Given the description of an element on the screen output the (x, y) to click on. 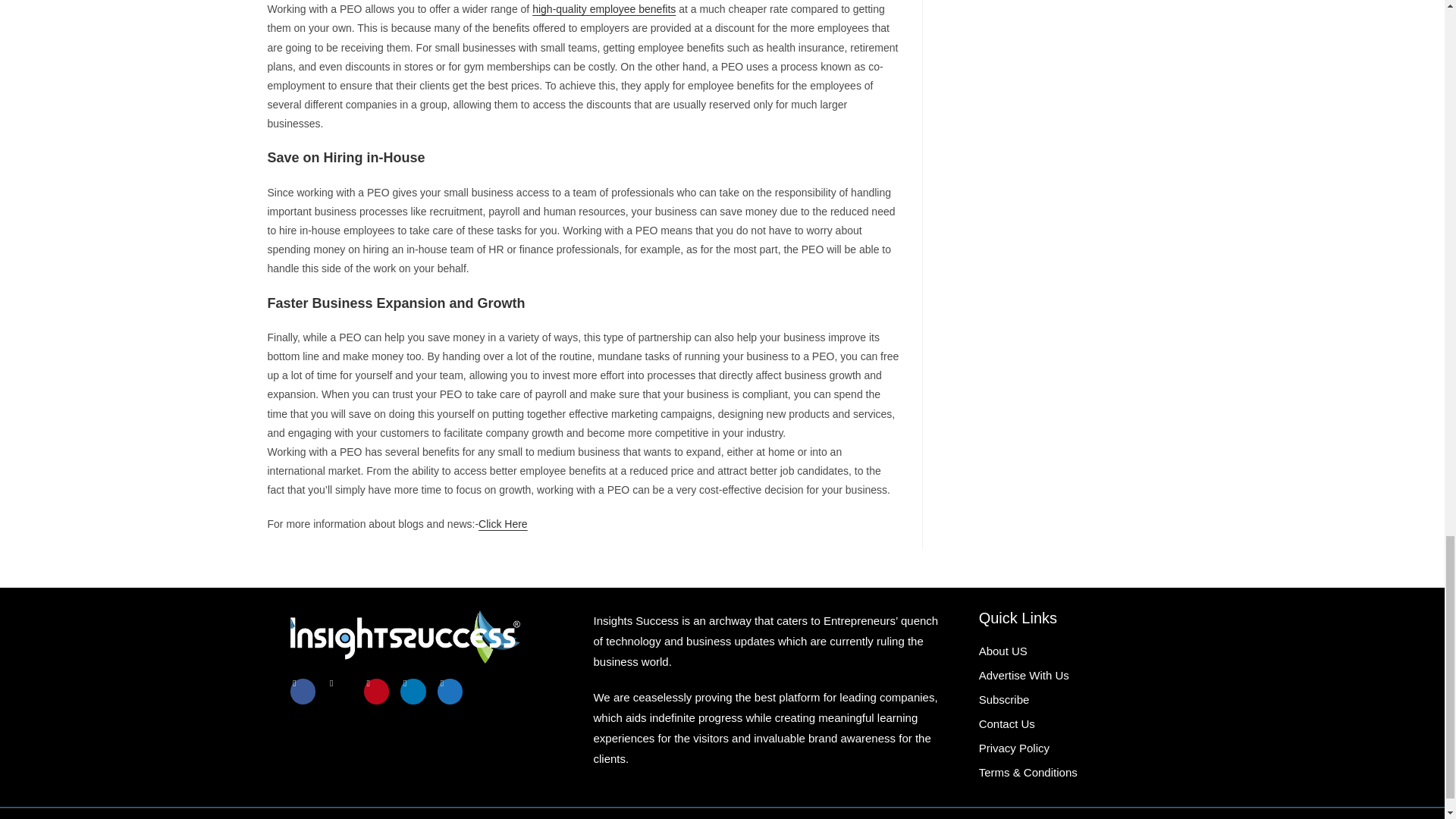
Click Here (503, 523)
high-quality employee benefits (603, 9)
